Given the description of an element on the screen output the (x, y) to click on. 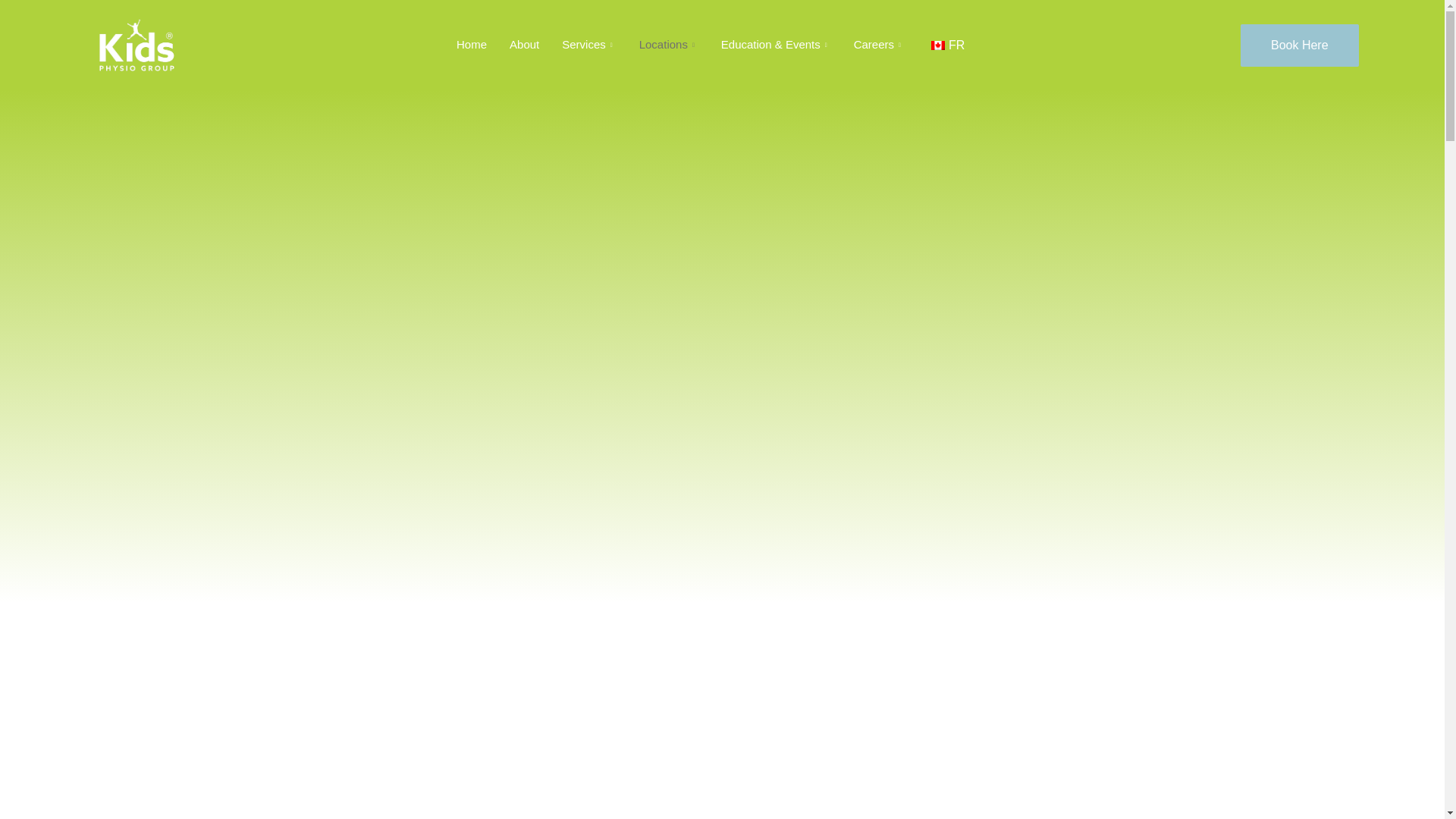
About (531, 44)
French (937, 44)
Locations (676, 44)
Home (479, 44)
Careers (886, 44)
Services (596, 44)
